Given the description of an element on the screen output the (x, y) to click on. 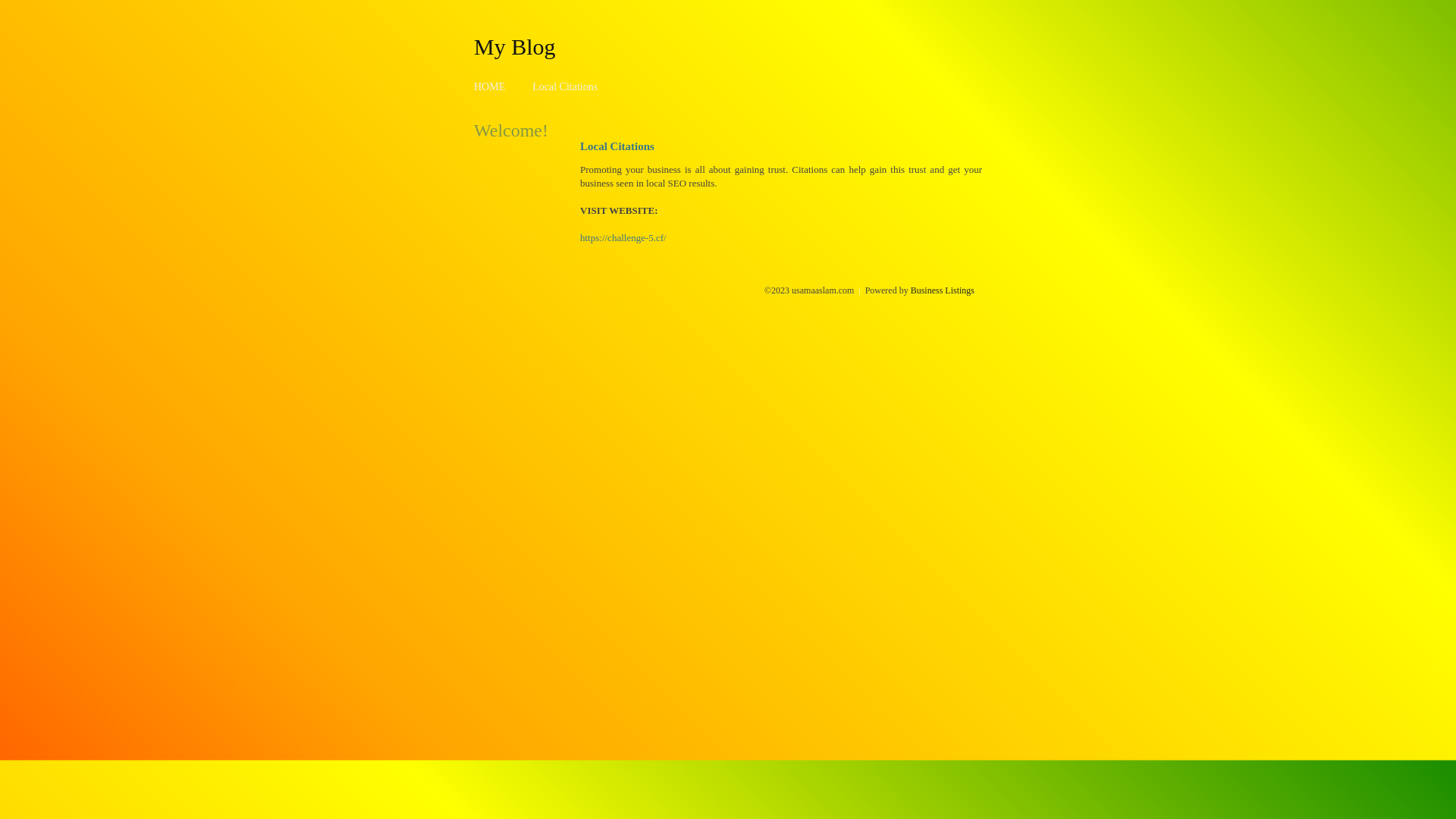
HOME Element type: text (489, 86)
My Blog Element type: text (514, 46)
Business Listings Element type: text (942, 290)
https://challenge-5.cf/ Element type: text (623, 237)
Local Citations Element type: text (564, 86)
